Given the description of an element on the screen output the (x, y) to click on. 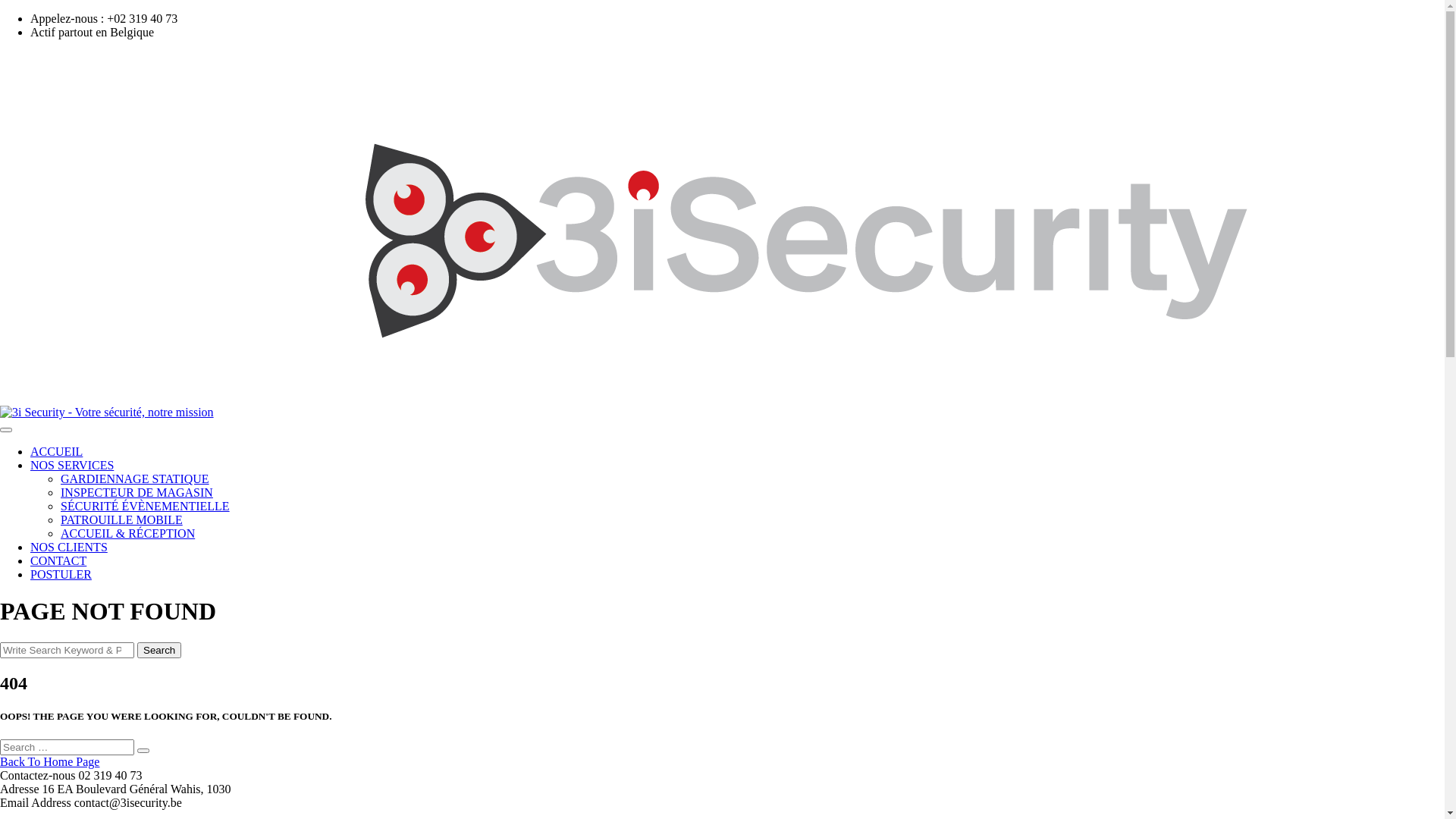
ACCUEIL Element type: text (56, 451)
CONTACT Element type: text (58, 560)
GARDIENNAGE STATIQUE Element type: text (134, 478)
Search Element type: text (159, 650)
Search Element type: text (143, 750)
Back To Home Page Element type: text (49, 761)
NOS CLIENTS Element type: text (68, 546)
INSPECTEUR DE MAGASIN Element type: text (136, 492)
PATROUILLE MOBILE Element type: text (121, 519)
POSTULER Element type: text (60, 573)
NOS SERVICES Element type: text (71, 464)
